Given the description of an element on the screen output the (x, y) to click on. 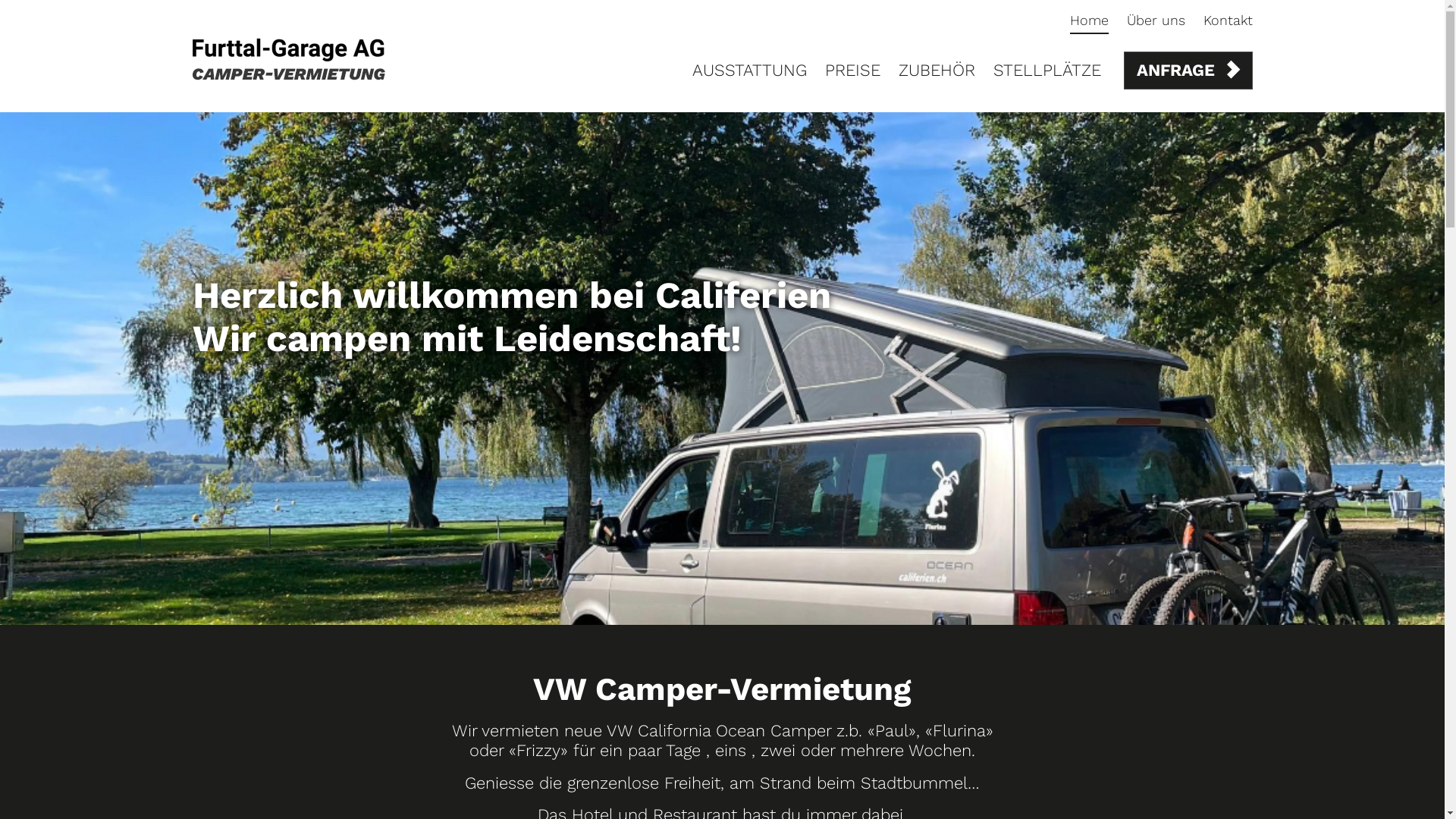
Kontakt Element type: text (1227, 20)
ANFRAGE Element type: text (1187, 70)
Home Element type: text (1088, 23)
PREISE Element type: text (852, 69)
AUSSTATTUNG Element type: text (748, 69)
